Given the description of an element on the screen output the (x, y) to click on. 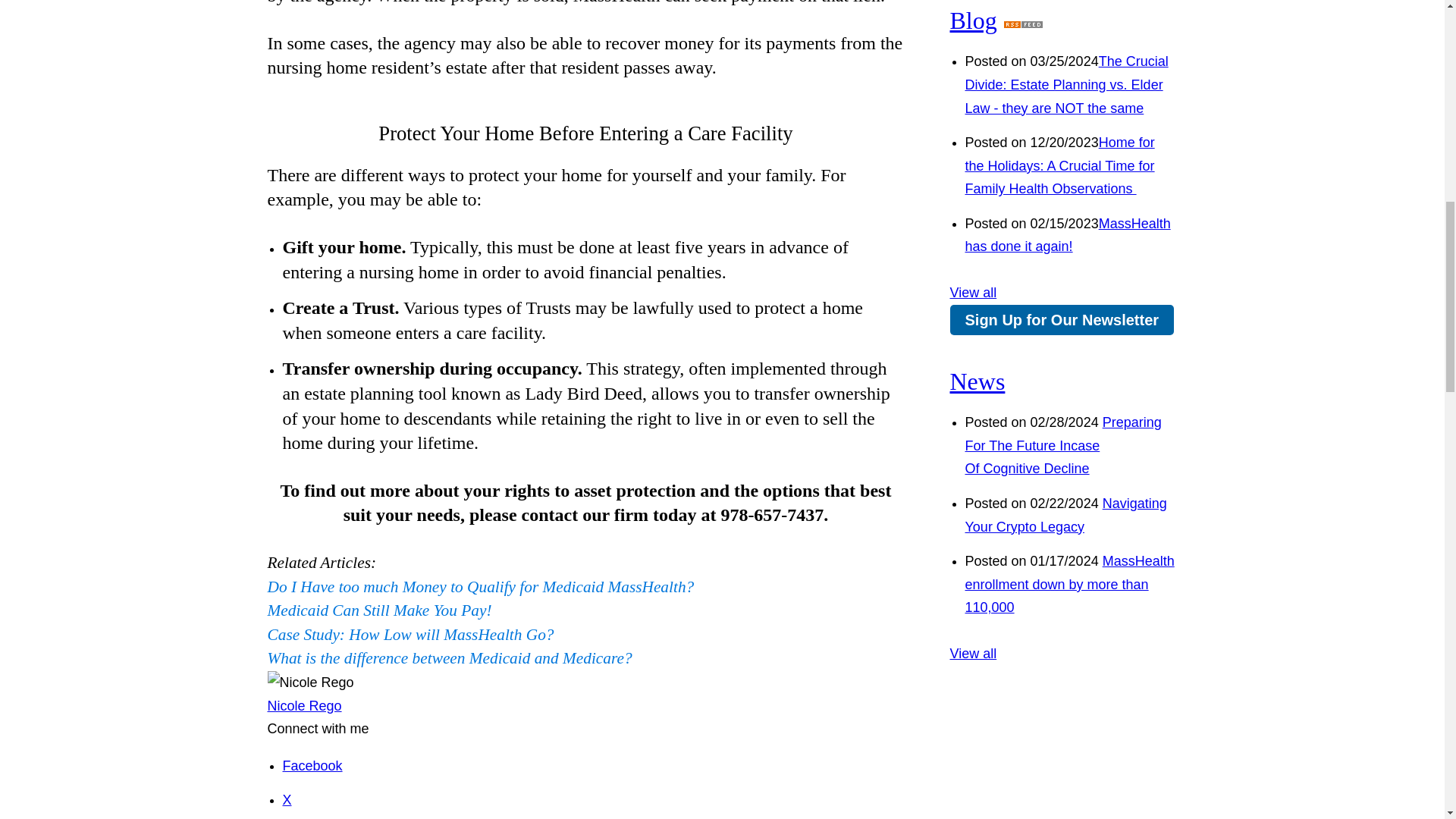
What is the difference between Medicaid and Medicare? (448, 658)
Find me on Facebook (312, 765)
Lady Bird Deed (583, 393)
Subscribe to our RSS Feed (1023, 20)
Do I Have too much Money to Qualify for Medicaid MassHealth? (480, 587)
Case Study: How Low will MassHealth Go? (409, 634)
Facebook (312, 765)
Follow me on X (286, 799)
Medicaid Can Still Make You Pay! (379, 610)
Nicole Rego (303, 705)
